Given the description of an element on the screen output the (x, y) to click on. 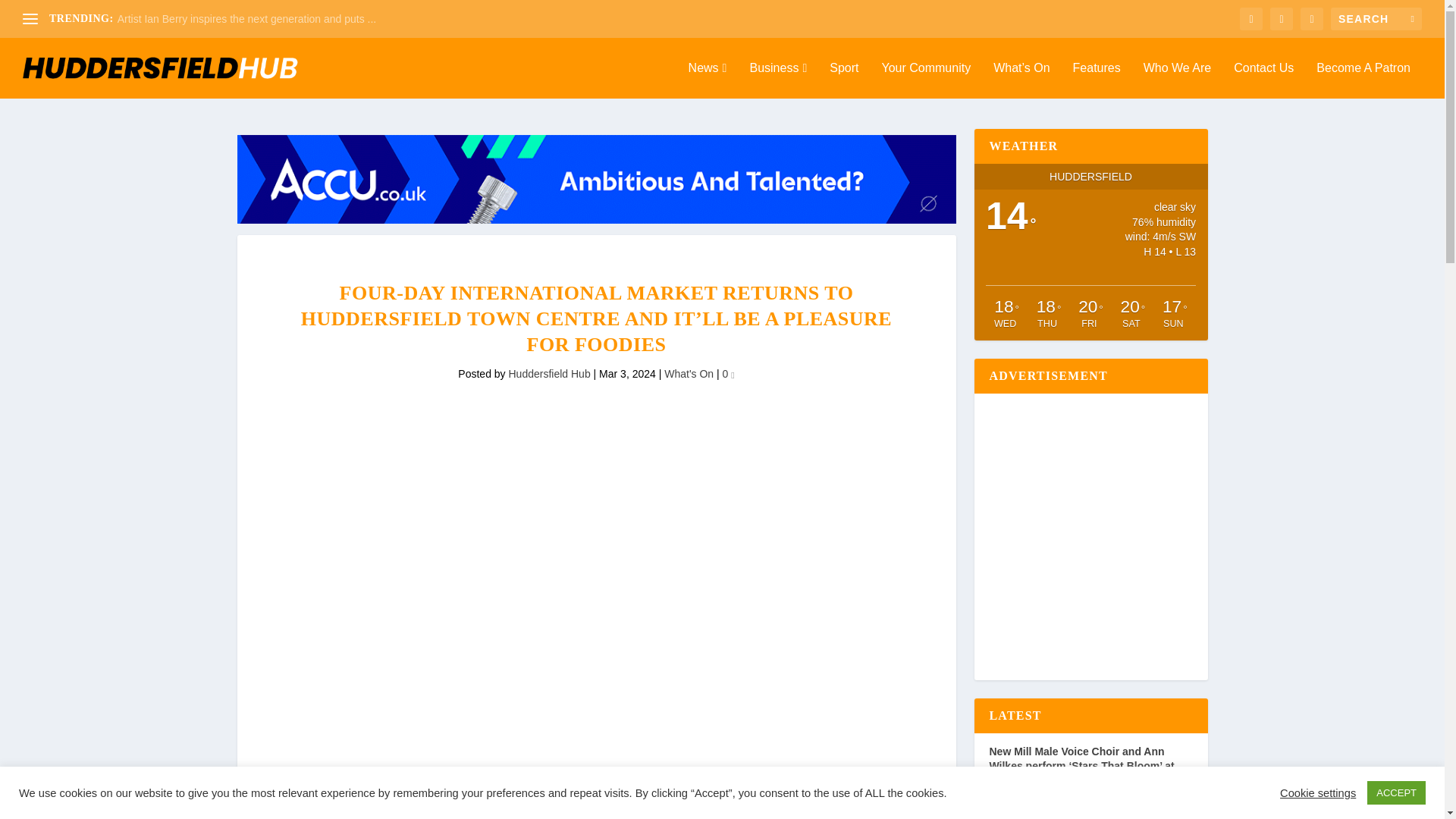
Your Community (925, 80)
Artist Ian Berry inspires the next generation and puts ... (247, 19)
Sport (844, 80)
Contact Us (1263, 80)
Features (1097, 80)
Business (777, 80)
Search for: (1376, 18)
News (707, 80)
Become A Patron (1363, 80)
Posts by Huddersfield Hub (548, 373)
comment count (731, 375)
Who We Are (1176, 80)
